Given the description of an element on the screen output the (x, y) to click on. 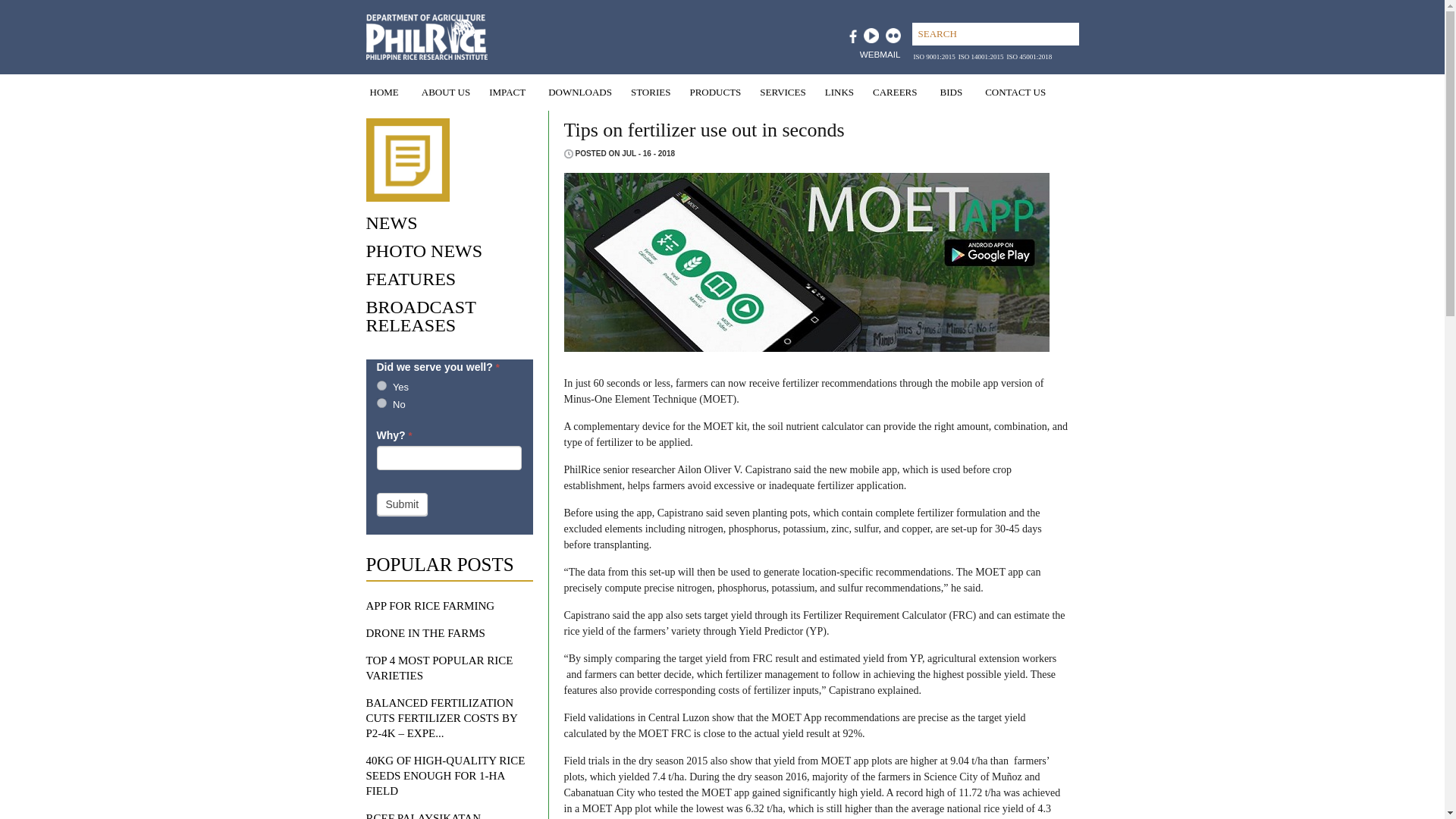
IMPACT (507, 92)
Yes (380, 385)
Search (997, 33)
ISO 45001:2018 (1029, 56)
ISO 9001:2015 (933, 56)
No (380, 402)
ABOUT US (443, 92)
ISO 14001:2015 (981, 56)
WEBMAIL (880, 53)
DOWNLOADS (578, 92)
HOME (383, 92)
